Given the description of an element on the screen output the (x, y) to click on. 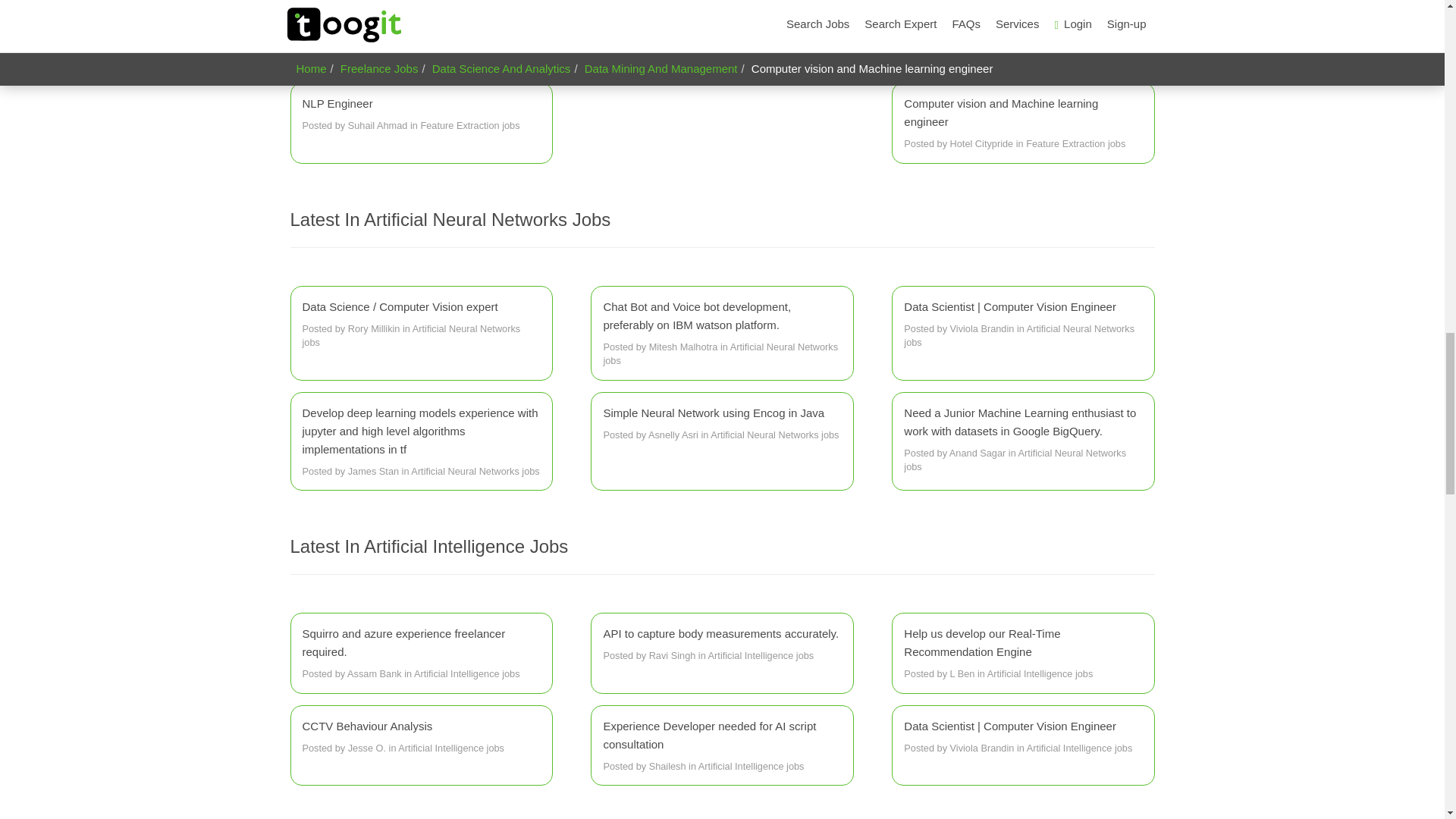
In Feature Extraction: NLP Engineer (420, 114)
